Given the description of an element on the screen output the (x, y) to click on. 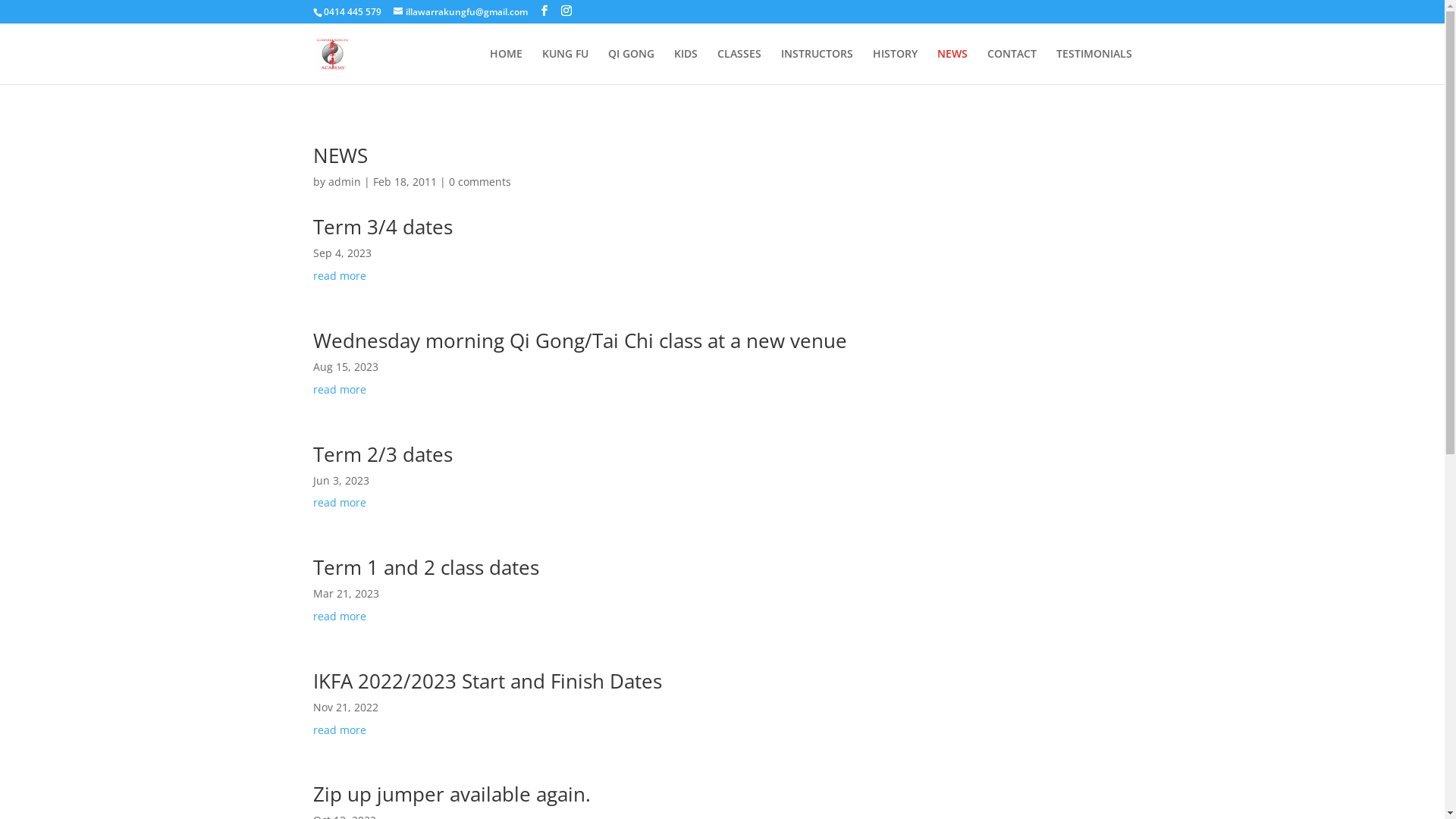
Term 1 and 2 class dates Element type: text (425, 566)
CLASSES Element type: text (739, 66)
TESTIMONIALS Element type: text (1093, 66)
Zip up jumper available again. Element type: text (450, 793)
Term 2/3 dates Element type: text (381, 453)
IKFA 2022/2023 Start and Finish Dates Element type: text (486, 680)
NEWS Element type: text (952, 66)
admin Element type: text (343, 181)
KIDS Element type: text (684, 66)
illawarrakungfu@gmail.com Element type: text (459, 11)
QI GONG Element type: text (631, 66)
read more Element type: text (721, 389)
read more Element type: text (721, 502)
Wednesday morning Qi Gong/Tai Chi class at a new venue Element type: text (579, 340)
HOME Element type: text (505, 66)
0 comments Element type: text (479, 181)
Term 3/4 dates Element type: text (381, 226)
KUNG FU Element type: text (564, 66)
read more Element type: text (721, 730)
read more Element type: text (721, 275)
read more Element type: text (721, 616)
CONTACT Element type: text (1011, 66)
INSTRUCTORS Element type: text (817, 66)
HISTORY Element type: text (894, 66)
